Given the description of an element on the screen output the (x, y) to click on. 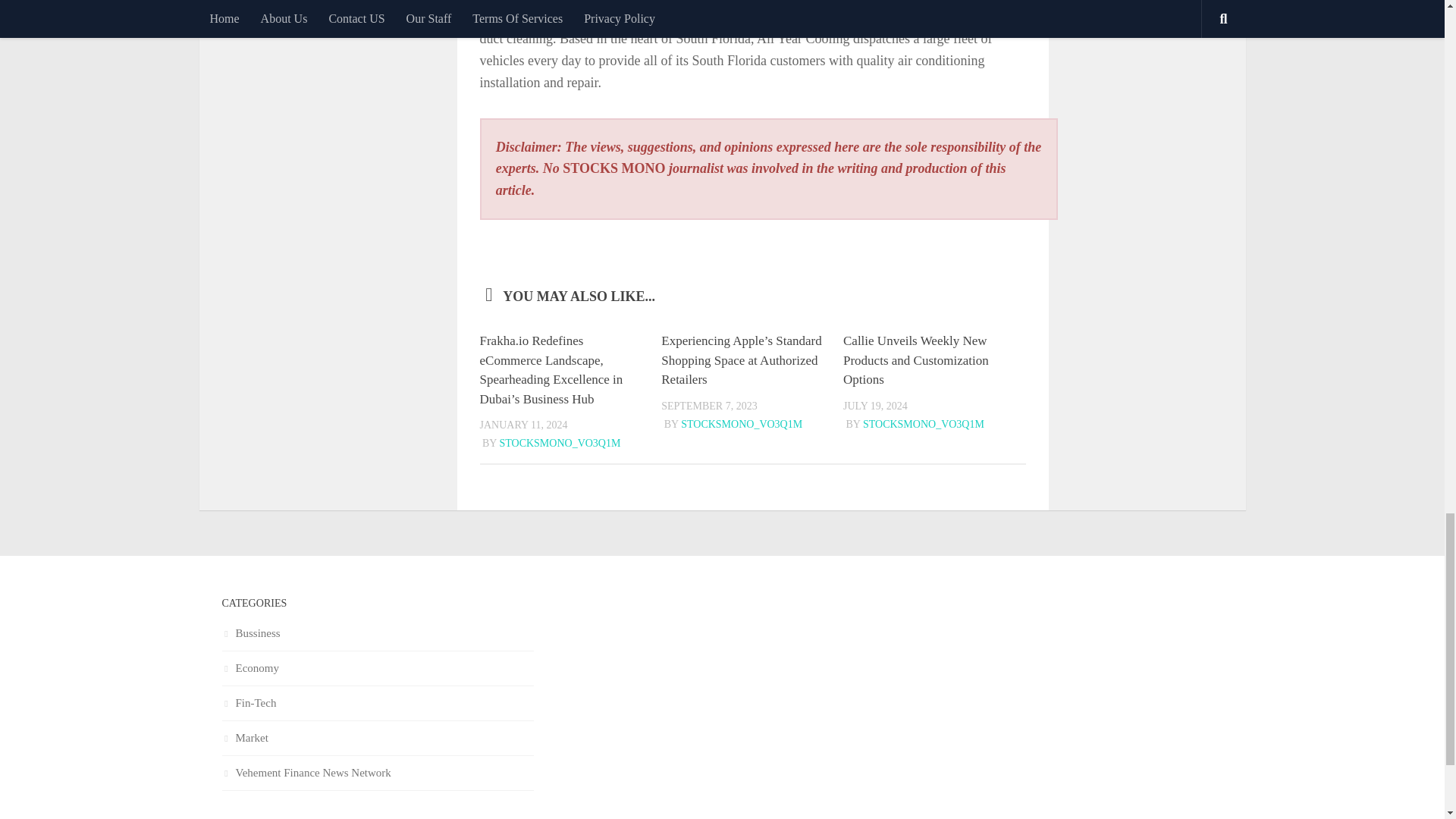
Callie Unveils Weekly New Products and Customization Options (915, 359)
